Given the description of an element on the screen output the (x, y) to click on. 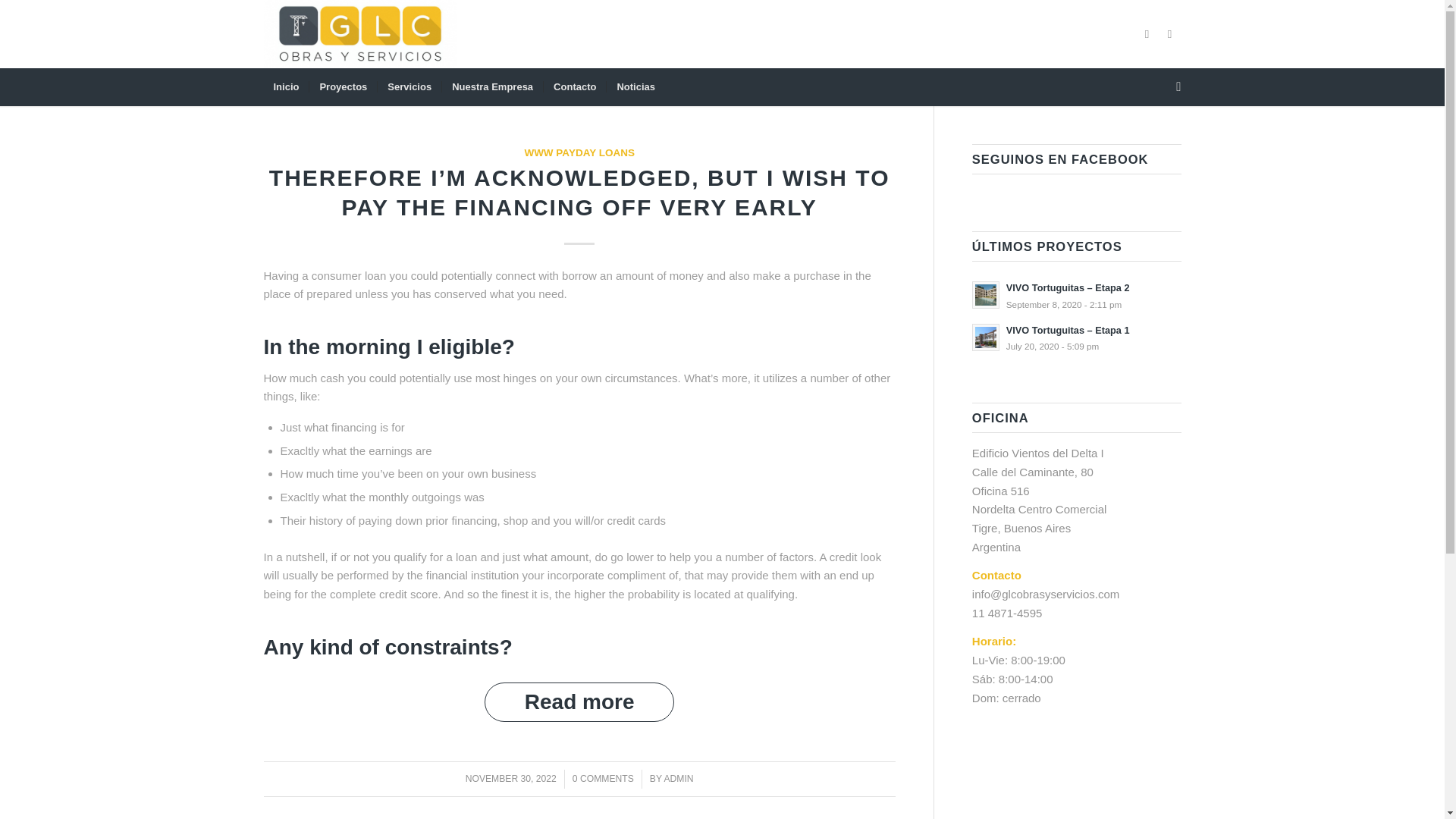
Twitter (1146, 33)
Servicios (409, 86)
Proyectos (342, 86)
Posts by admin (678, 778)
Noticias (635, 86)
Read more (579, 702)
Inicio (285, 86)
ADMIN (678, 778)
0 COMMENTS (602, 778)
WWW PAYDAY LOANS (579, 152)
